Given the description of an element on the screen output the (x, y) to click on. 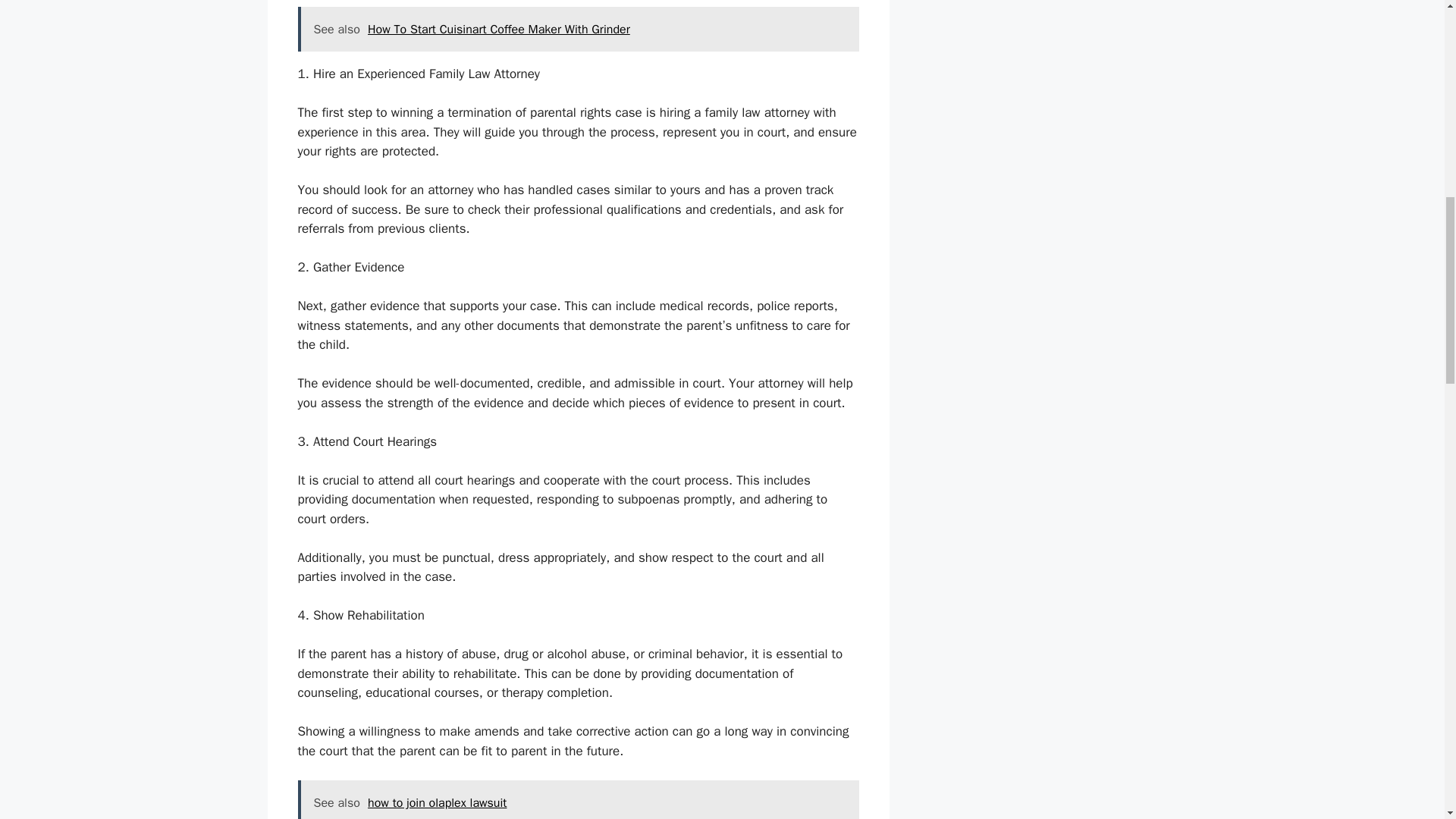
See also  how to join olaplex lawsuit (578, 799)
See also  How To Start Cuisinart Coffee Maker With Grinder (578, 29)
